Given the description of an element on the screen output the (x, y) to click on. 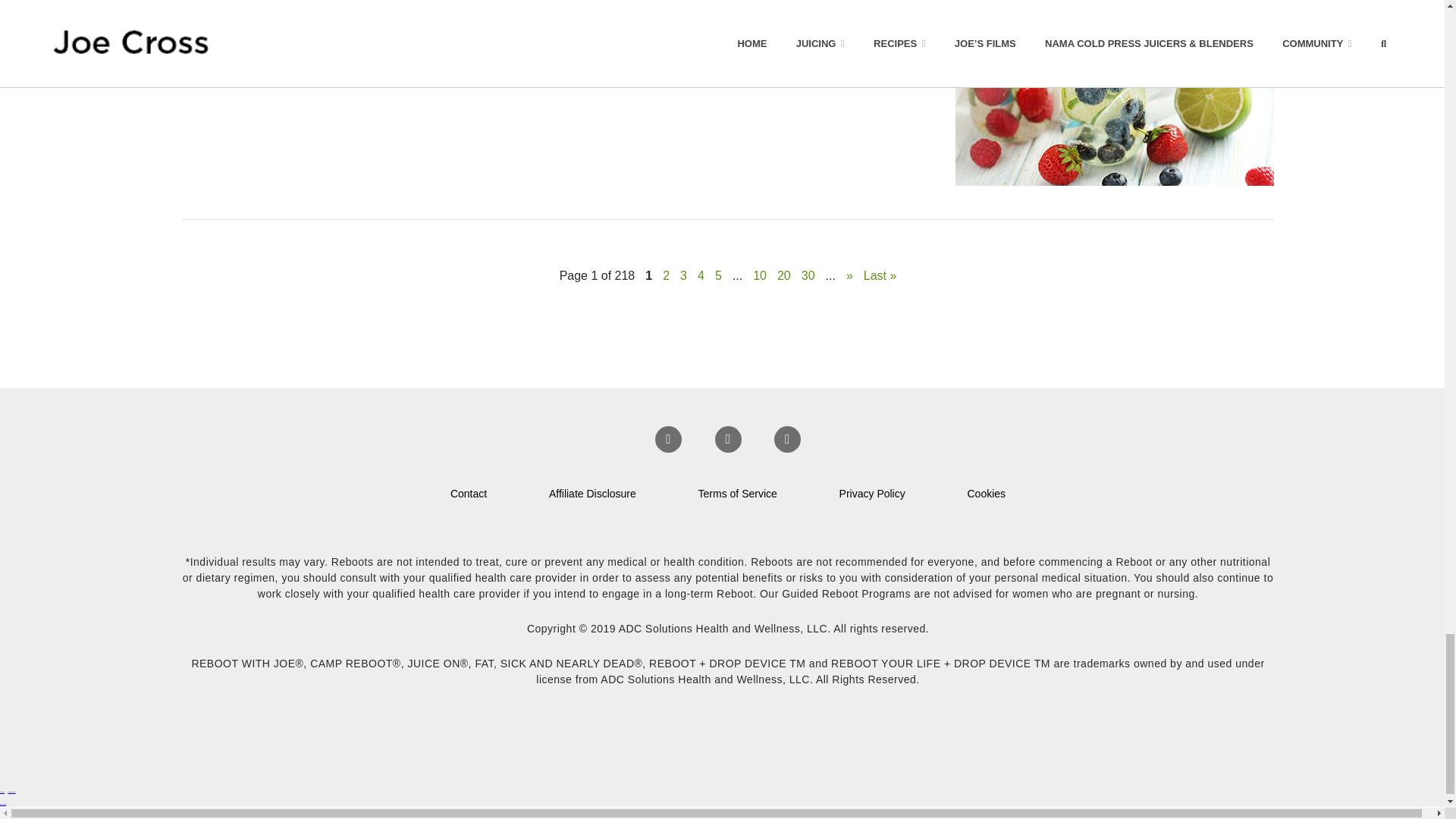
Page 20 (783, 275)
Page 30 (807, 275)
Page 10 (759, 275)
